Given the description of an element on the screen output the (x, y) to click on. 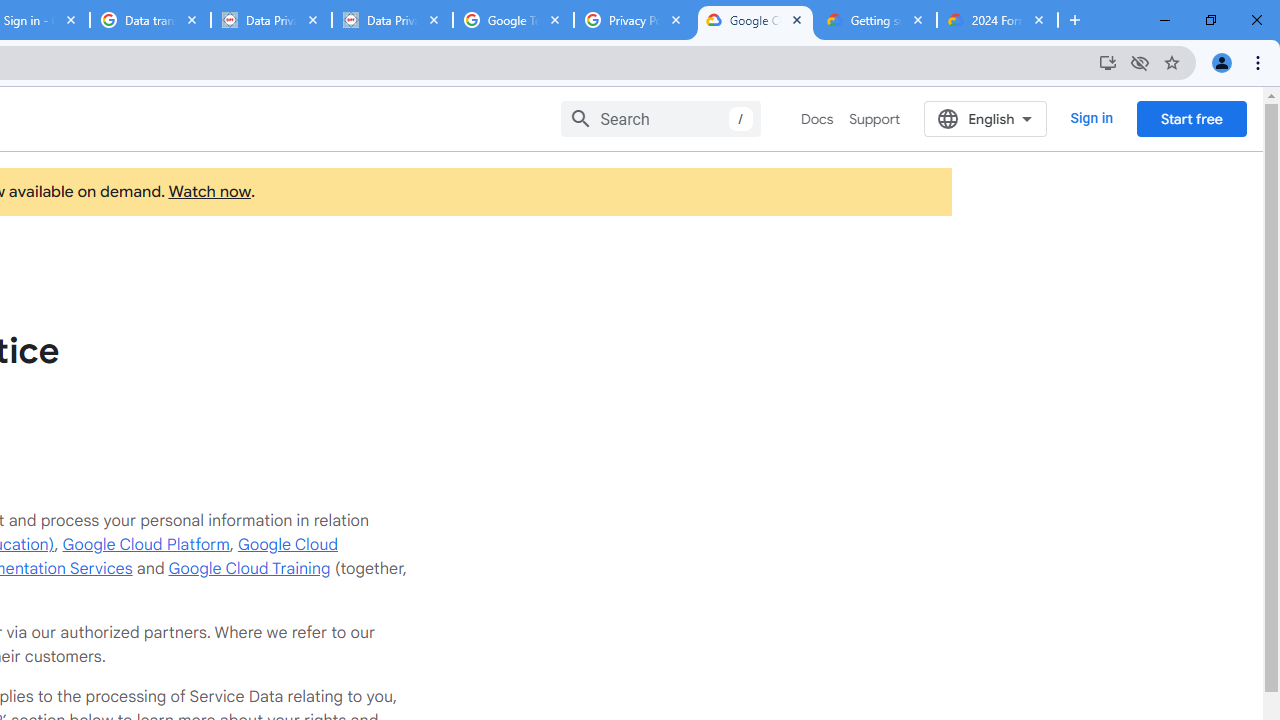
Watch now (208, 192)
Install Google Cloud (1107, 62)
English (985, 118)
Start free (1191, 118)
Data Privacy Framework (271, 20)
Google Cloud Training (249, 568)
